Given the description of an element on the screen output the (x, y) to click on. 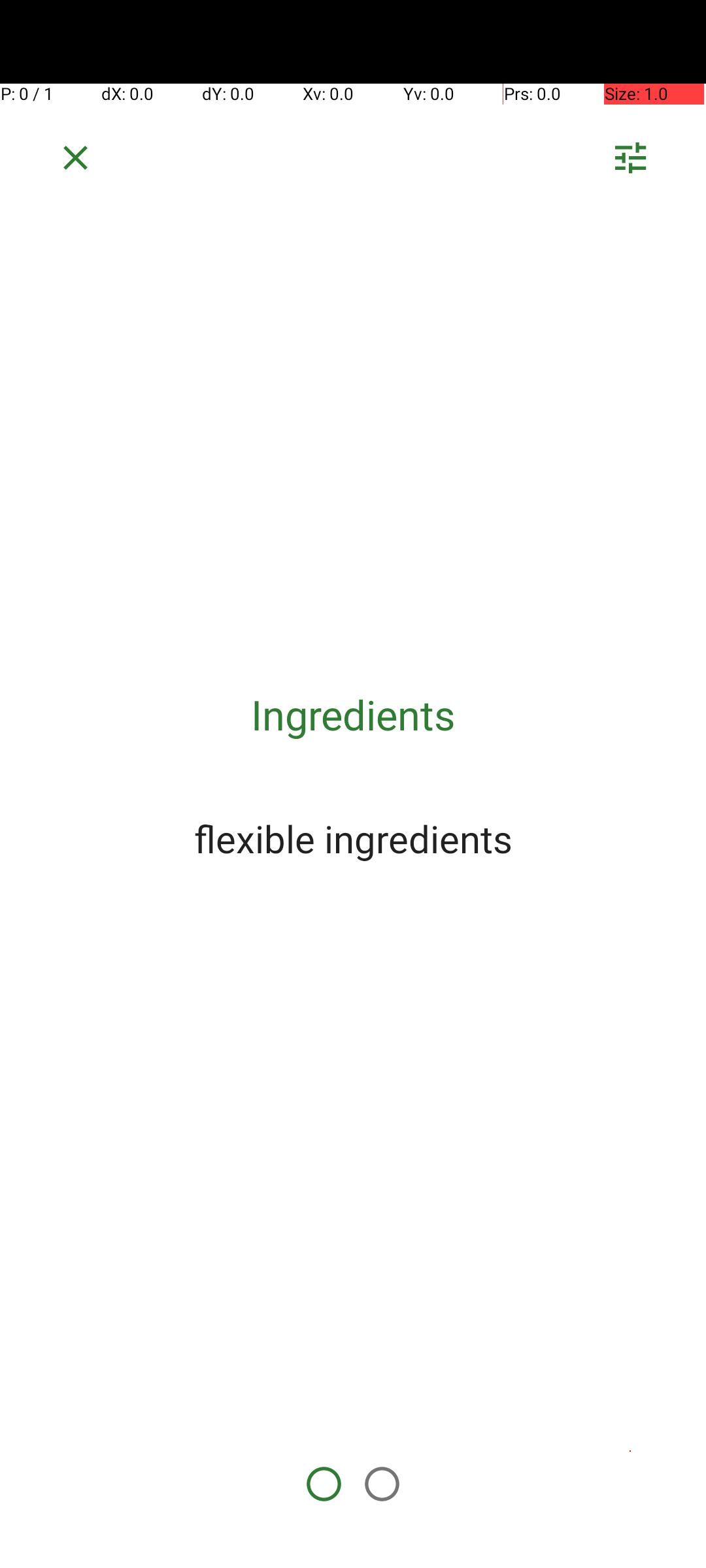
flexible ingredients Element type: android.widget.TextView (352, 838)
